Given the description of an element on the screen output the (x, y) to click on. 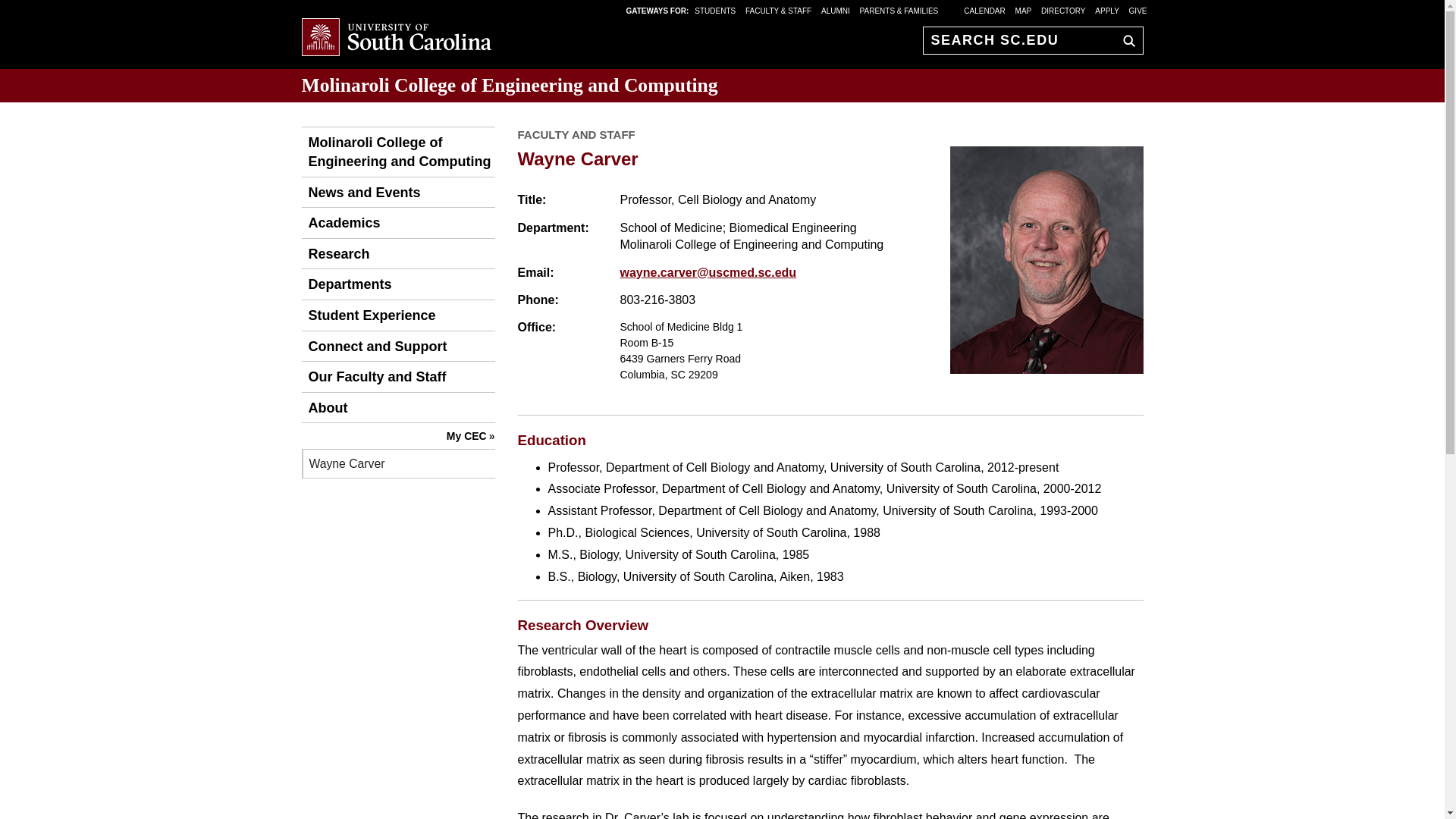
STUDENTS (716, 9)
DIRECTORY (1063, 9)
ALUMNI (835, 9)
sc.edu Search (1125, 40)
Molinaroli College of Engineering and Computing (509, 85)
GO (1125, 40)
University of South Carolina Home (396, 38)
GIVE (1138, 9)
CALENDAR (983, 9)
MAP (1023, 9)
